Given the description of an element on the screen output the (x, y) to click on. 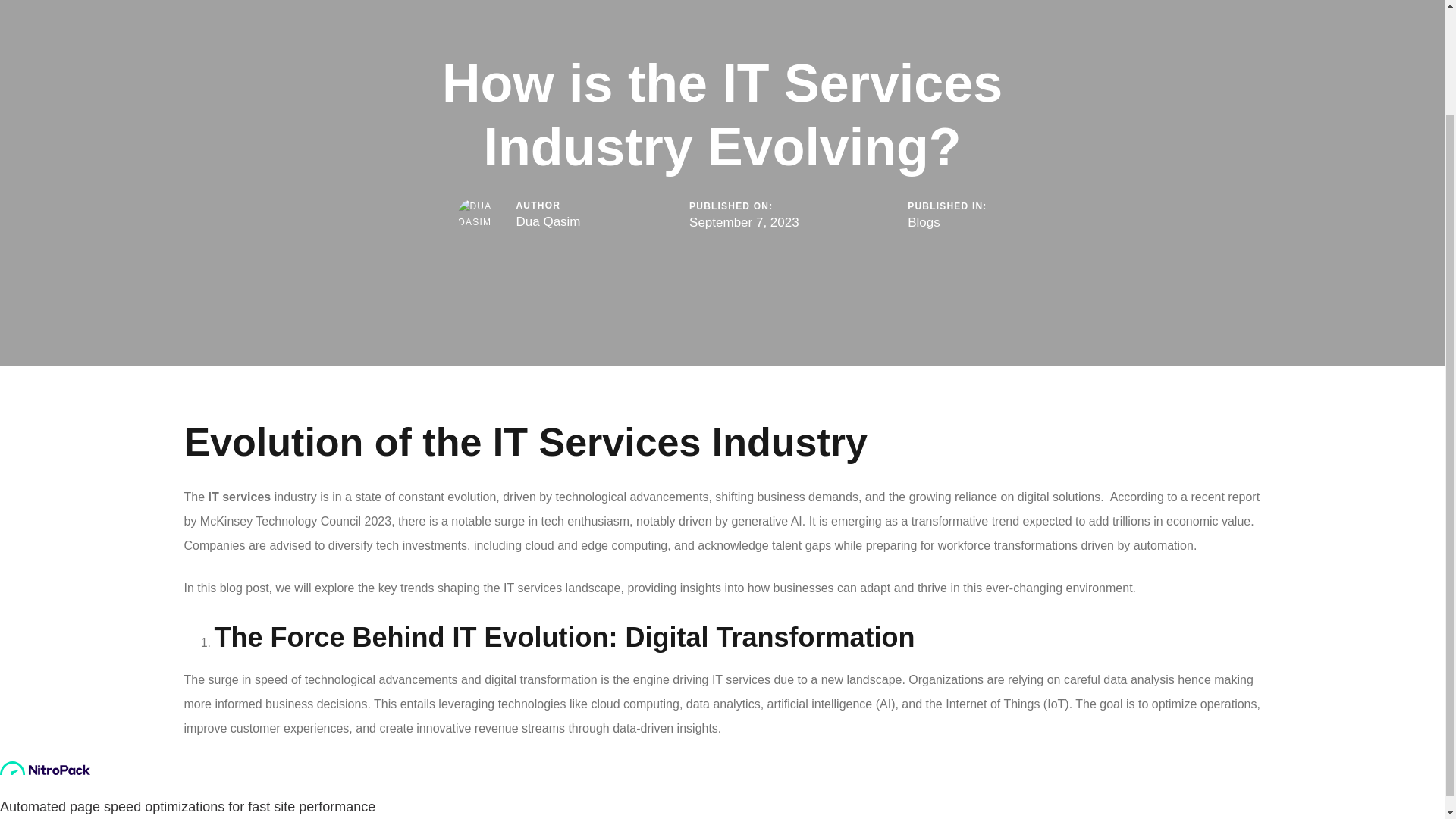
Posts by Dua Qasim (547, 221)
